Given the description of an element on the screen output the (x, y) to click on. 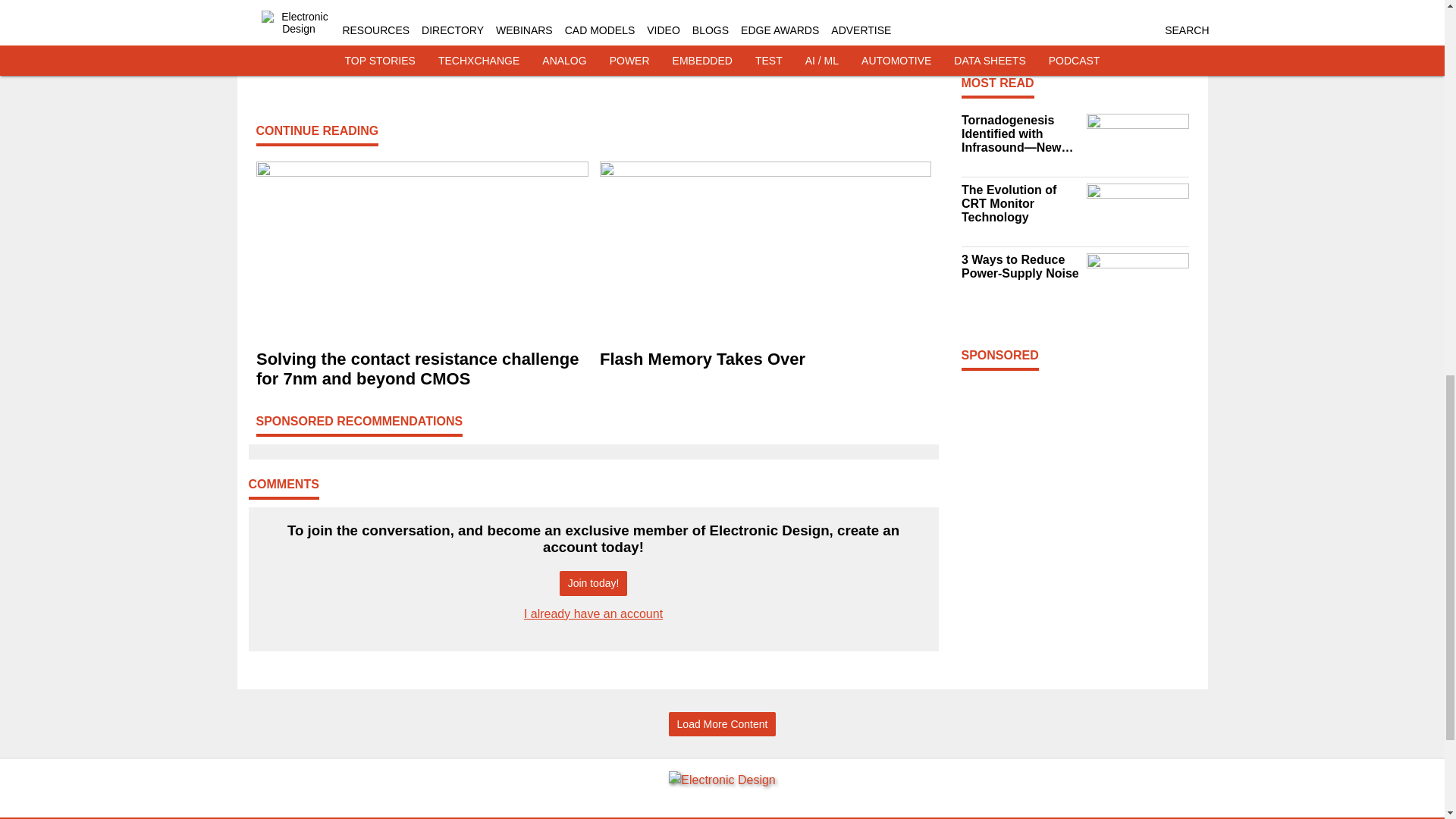
Join today! (593, 583)
Flash Memory Takes Over (764, 359)
I already have an account (593, 613)
